Given the description of an element on the screen output the (x, y) to click on. 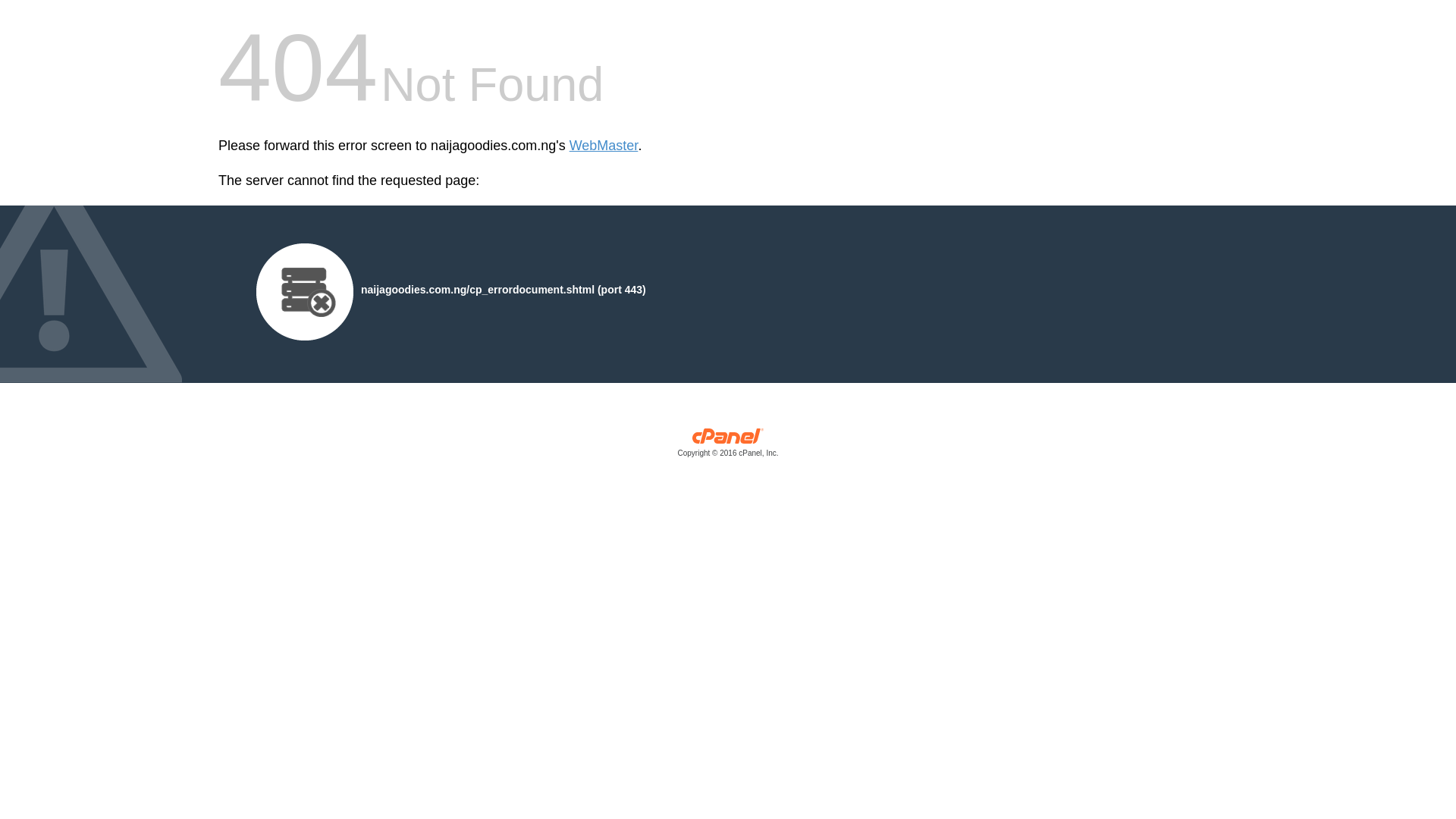
WebMaster (604, 145)
cPanel, Inc. (727, 446)
